Given the description of an element on the screen output the (x, y) to click on. 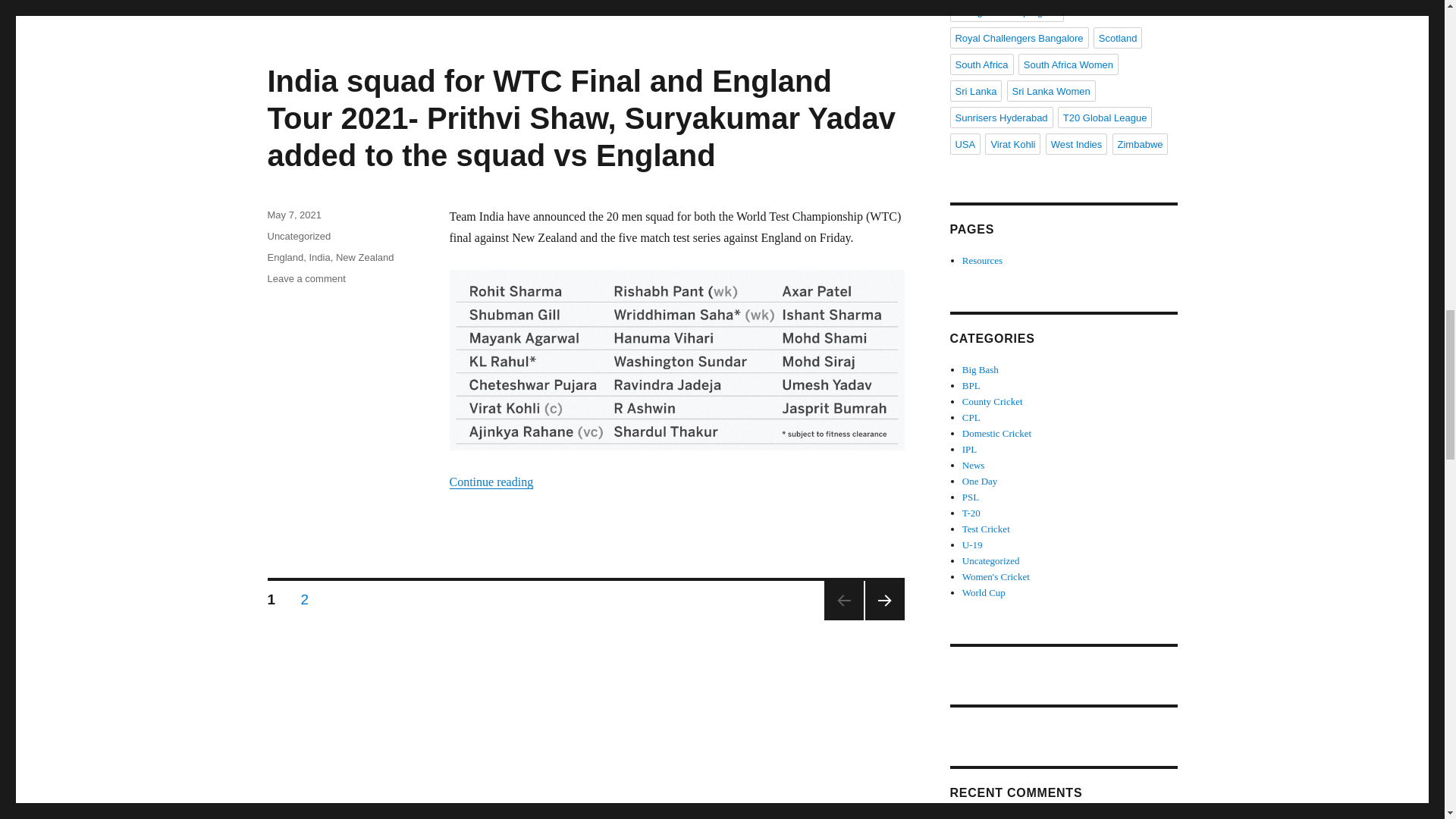
May 7, 2021 (293, 214)
Uncategorized (298, 235)
